Given the description of an element on the screen output the (x, y) to click on. 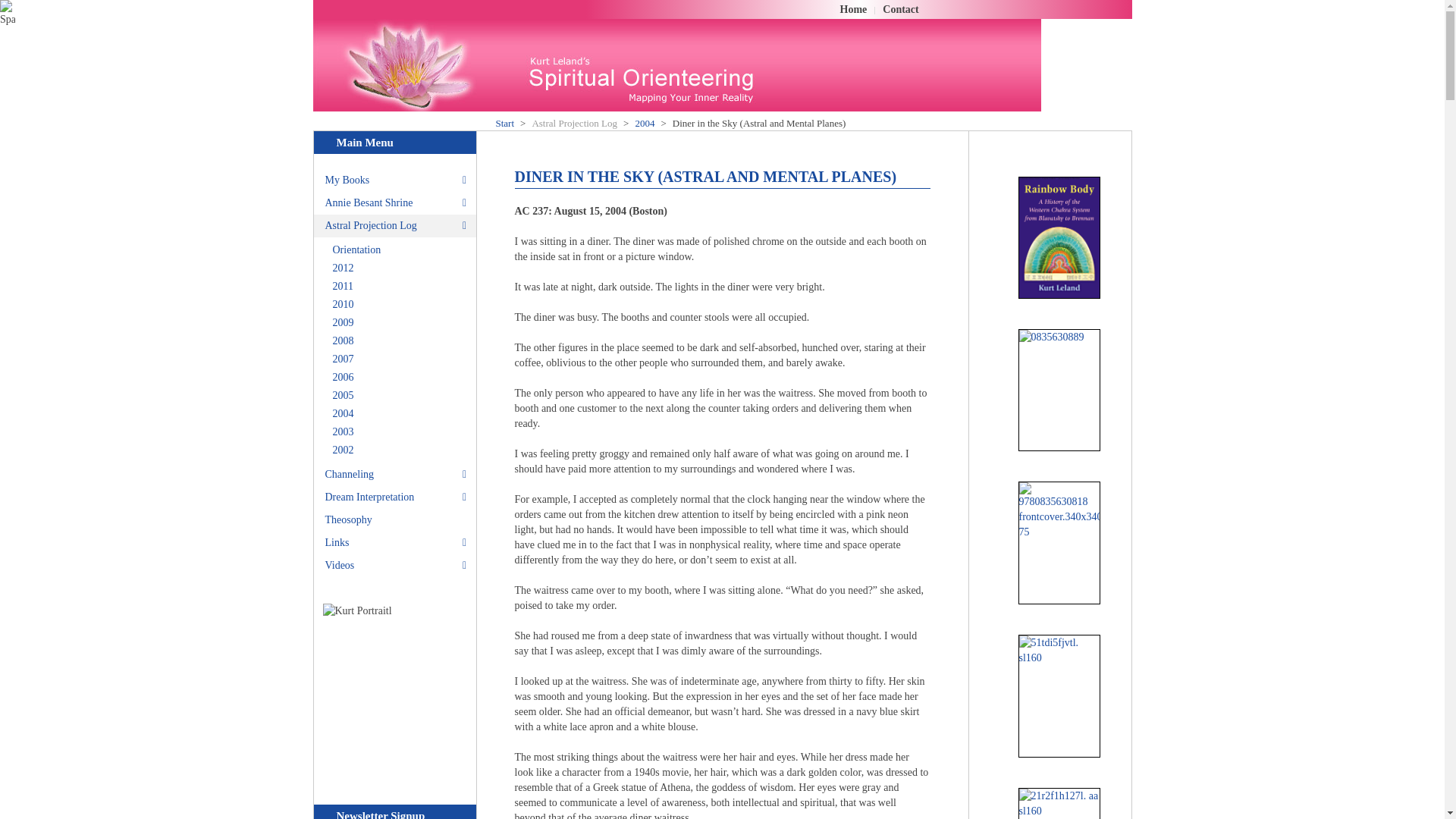
2003 (400, 432)
2009 (400, 322)
2011 (400, 286)
2006 (400, 377)
Home (853, 9)
Annie Besant Shrine (395, 202)
2005 (400, 395)
2002 (400, 450)
Links (395, 542)
My Books (395, 179)
Start (505, 123)
2008 (400, 341)
2004 (643, 123)
Channeling (395, 474)
2012 (400, 268)
